Given the description of an element on the screen output the (x, y) to click on. 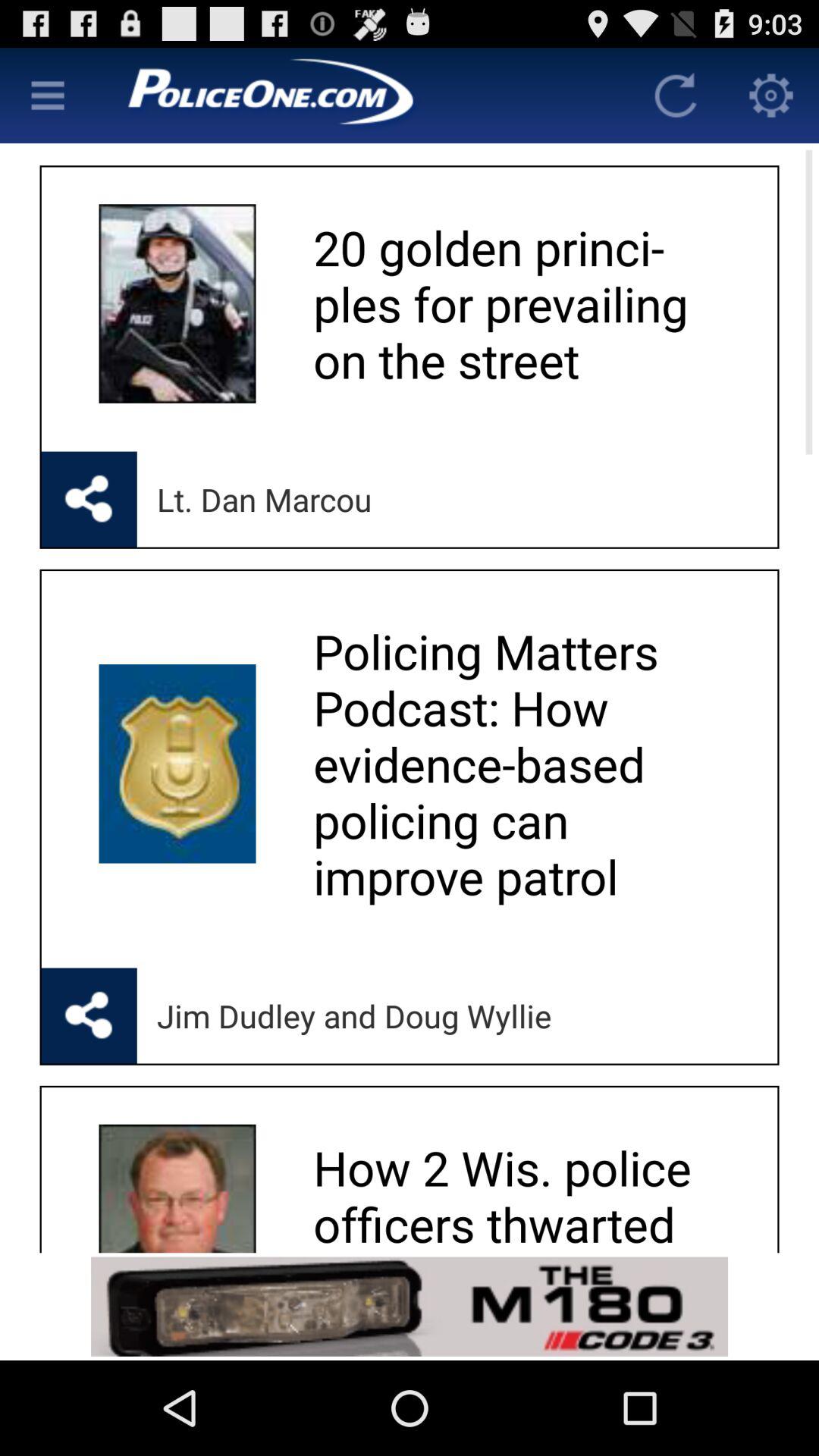
paid advertisement (409, 1306)
